Given the description of an element on the screen output the (x, y) to click on. 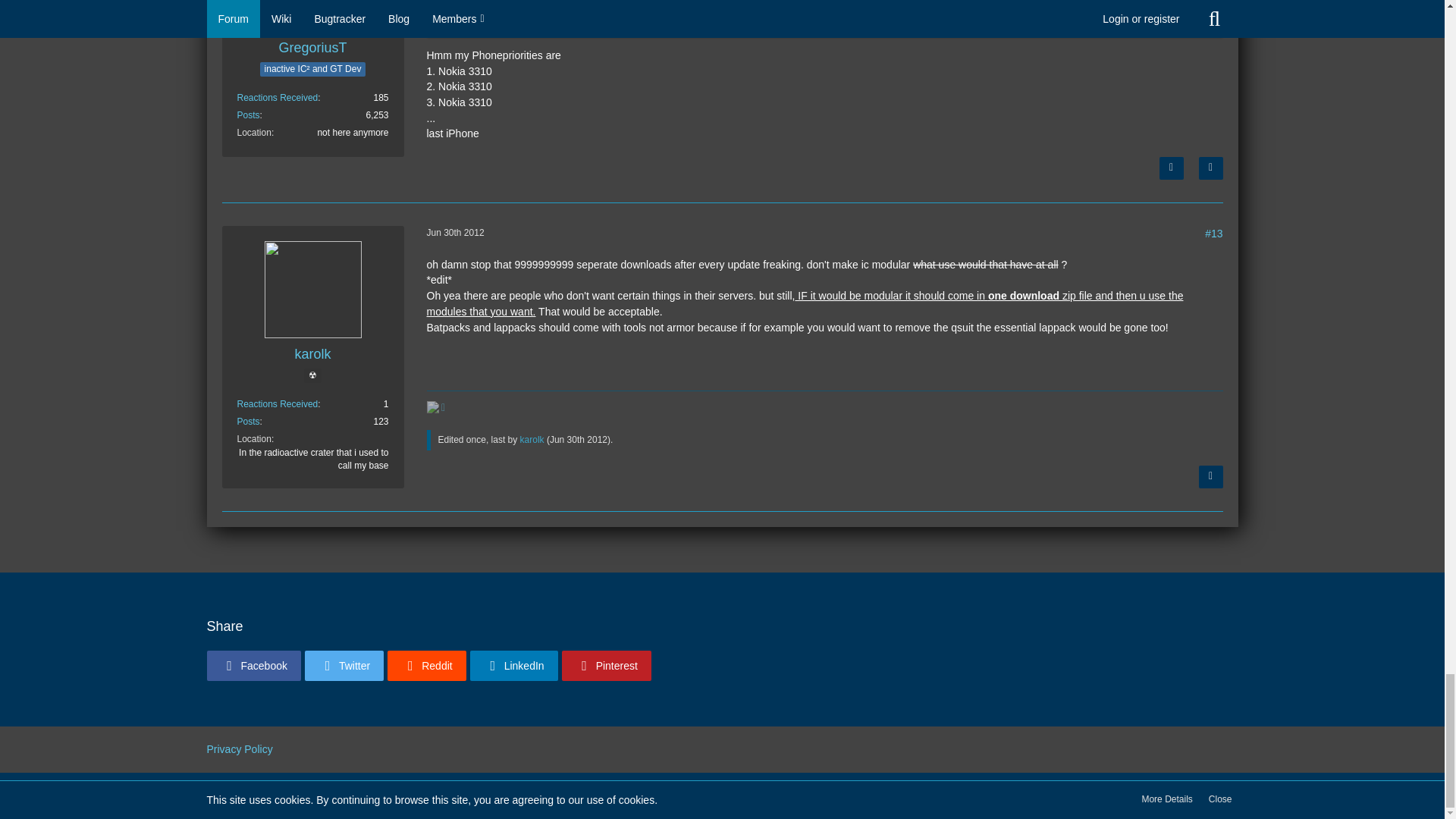
Twitter (344, 665)
Pinterest (606, 665)
Reddit (426, 665)
Facebook (252, 665)
LinkedIn (513, 665)
